Given the description of an element on the screen output the (x, y) to click on. 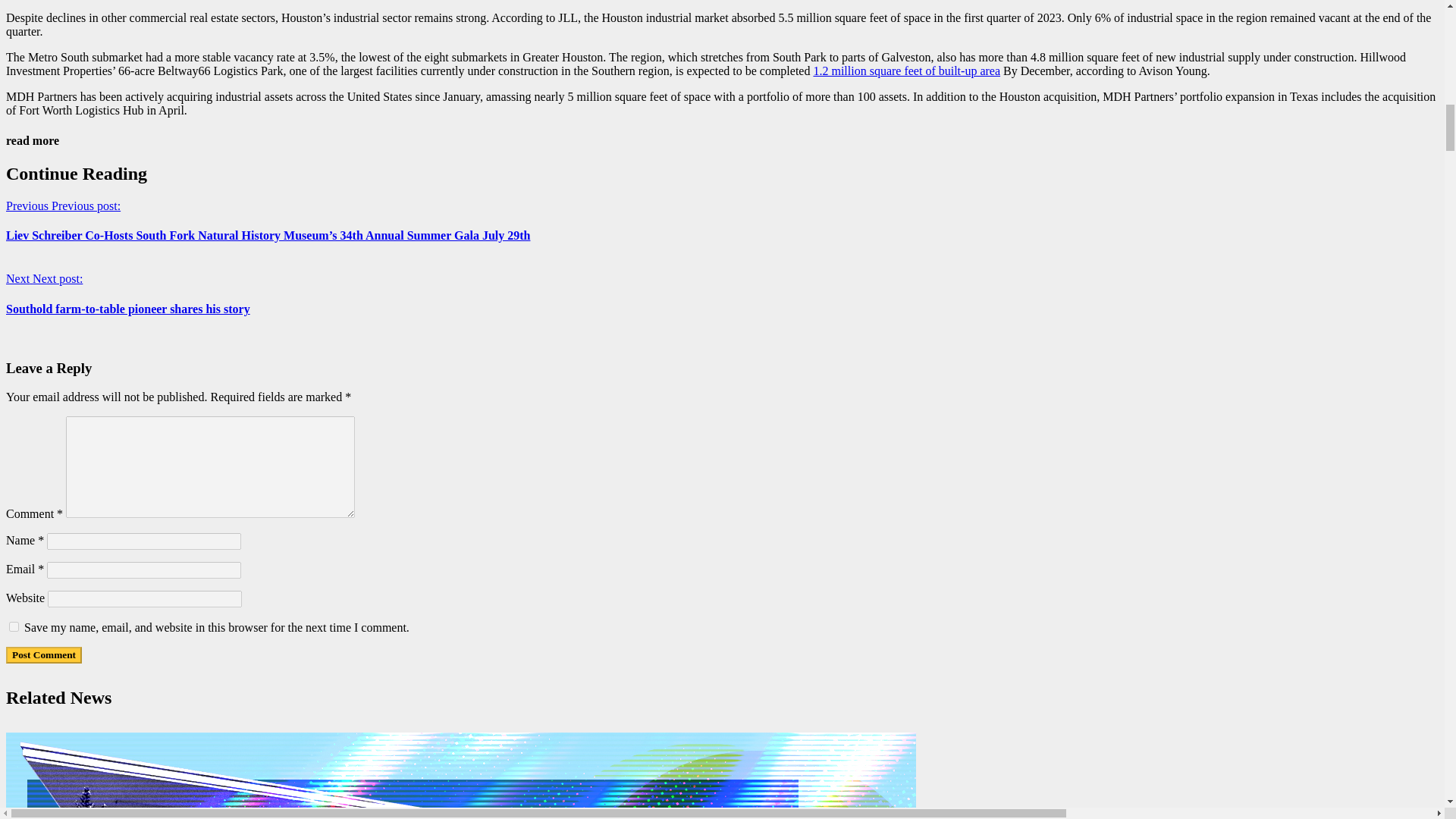
Post Comment (43, 655)
yes (13, 626)
Post Comment (43, 655)
1.2 million square feet of built-up area (906, 70)
